Given the description of an element on the screen output the (x, y) to click on. 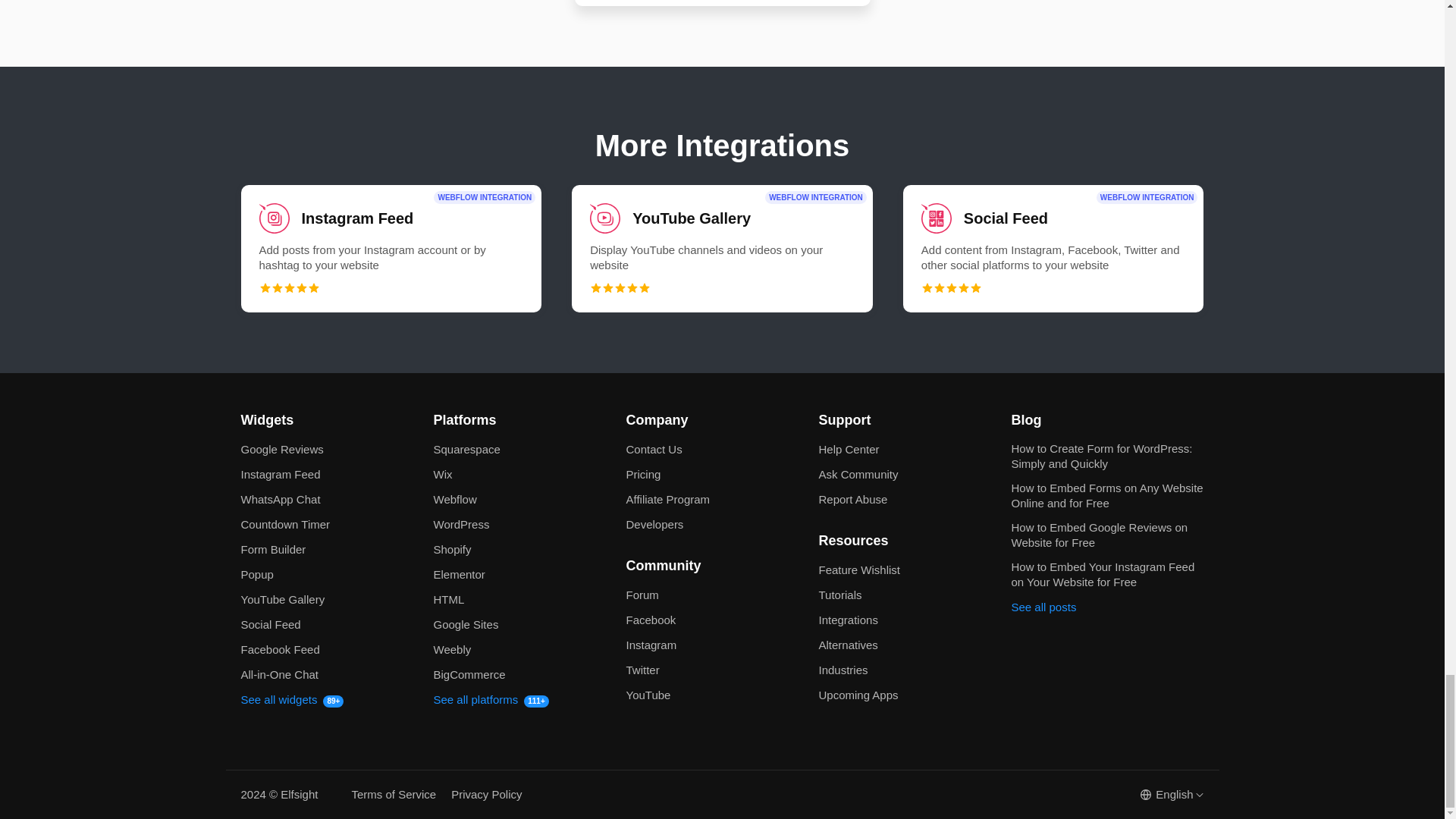
YouTube Gallery (722, 248)
Social Feed (1053, 248)
Instagram Feed (391, 248)
